Given the description of an element on the screen output the (x, y) to click on. 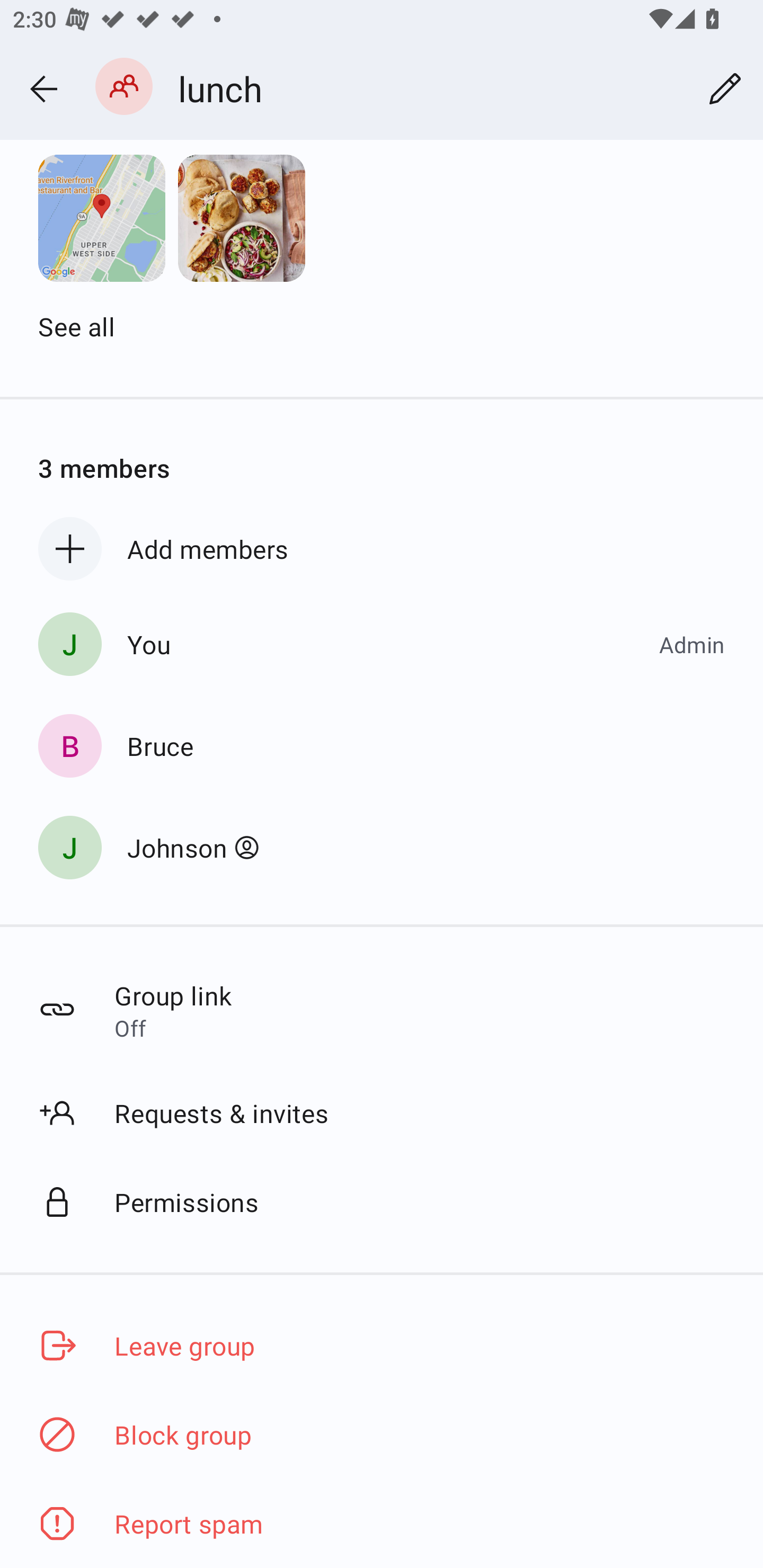
Leave group (381, 1345)
